Given the description of an element on the screen output the (x, y) to click on. 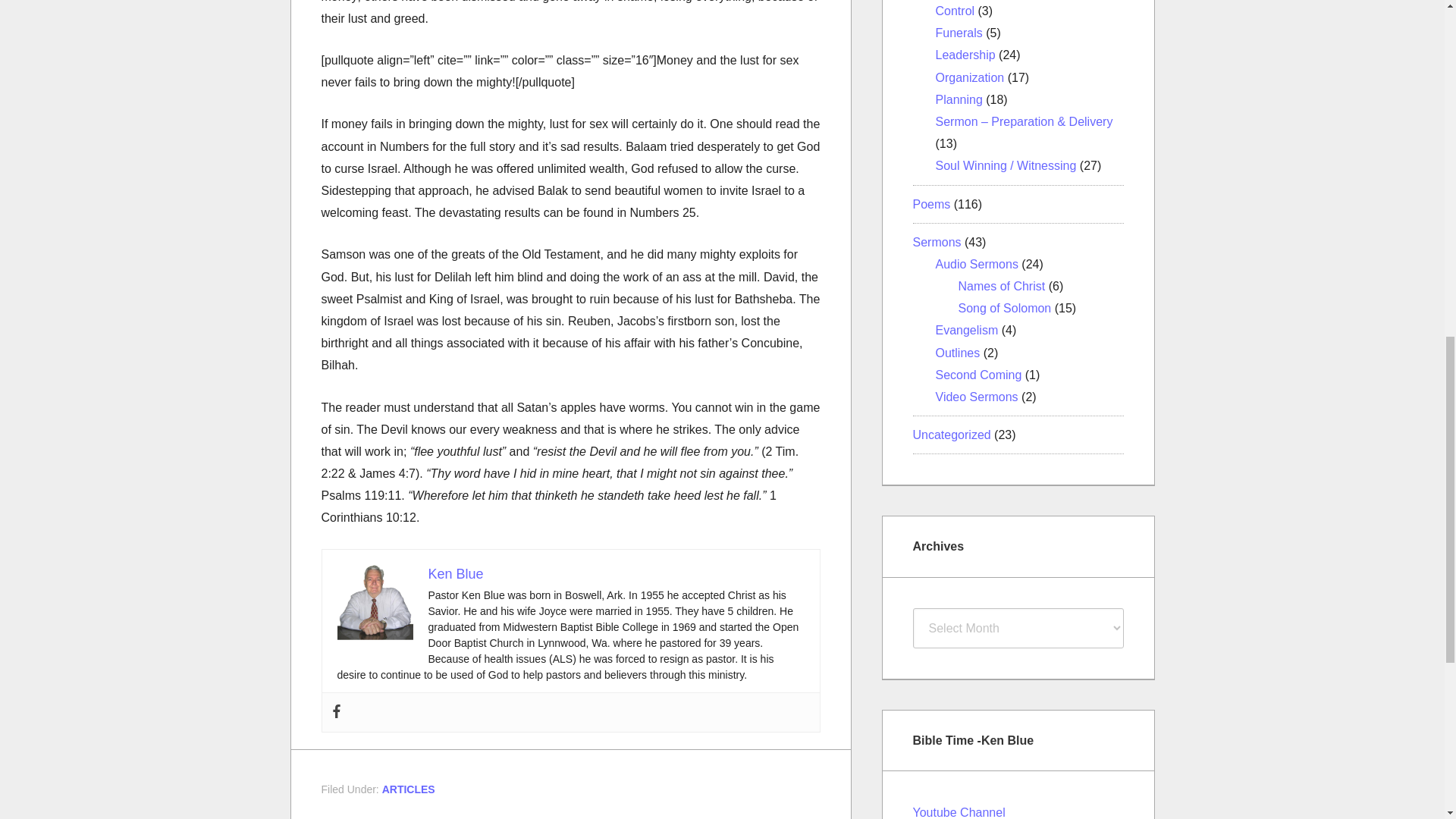
Leadership (965, 54)
Control (955, 10)
Outlines (957, 352)
Planning (959, 99)
Audio Sermons (976, 264)
Song of Solomon (1004, 308)
Names of Christ (1001, 286)
ARTICLES (408, 788)
Ken Blue (455, 573)
Sermons (936, 241)
Second Coming (979, 374)
Organization (970, 77)
Poems (931, 203)
Evangelism (967, 329)
Video Sermons (976, 396)
